Given the description of an element on the screen output the (x, y) to click on. 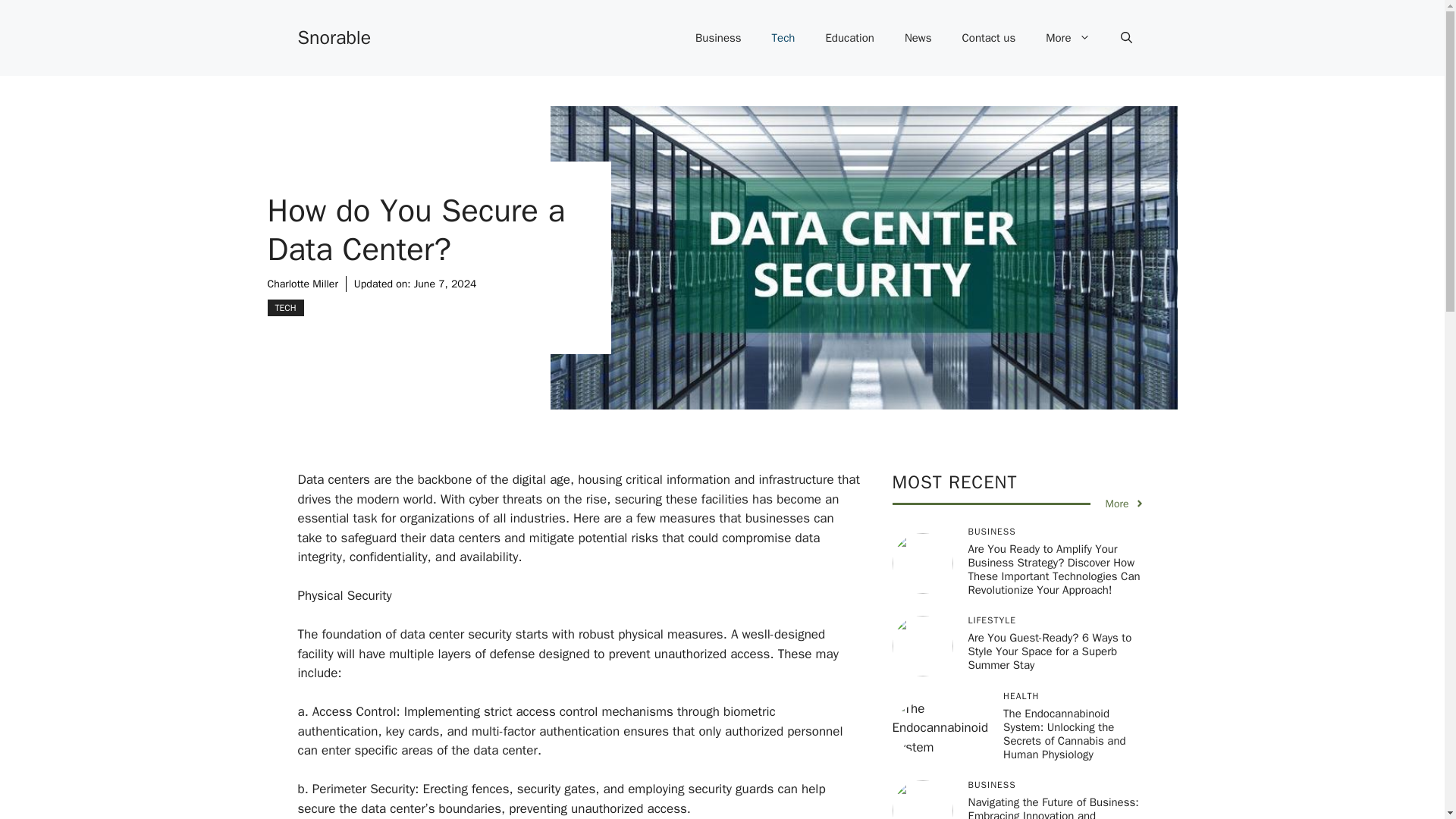
Education (848, 37)
TECH (284, 307)
More (1067, 37)
News (918, 37)
Contact us (988, 37)
More (1124, 503)
Tech (783, 37)
Charlotte Miller (301, 283)
